Given the description of an element on the screen output the (x, y) to click on. 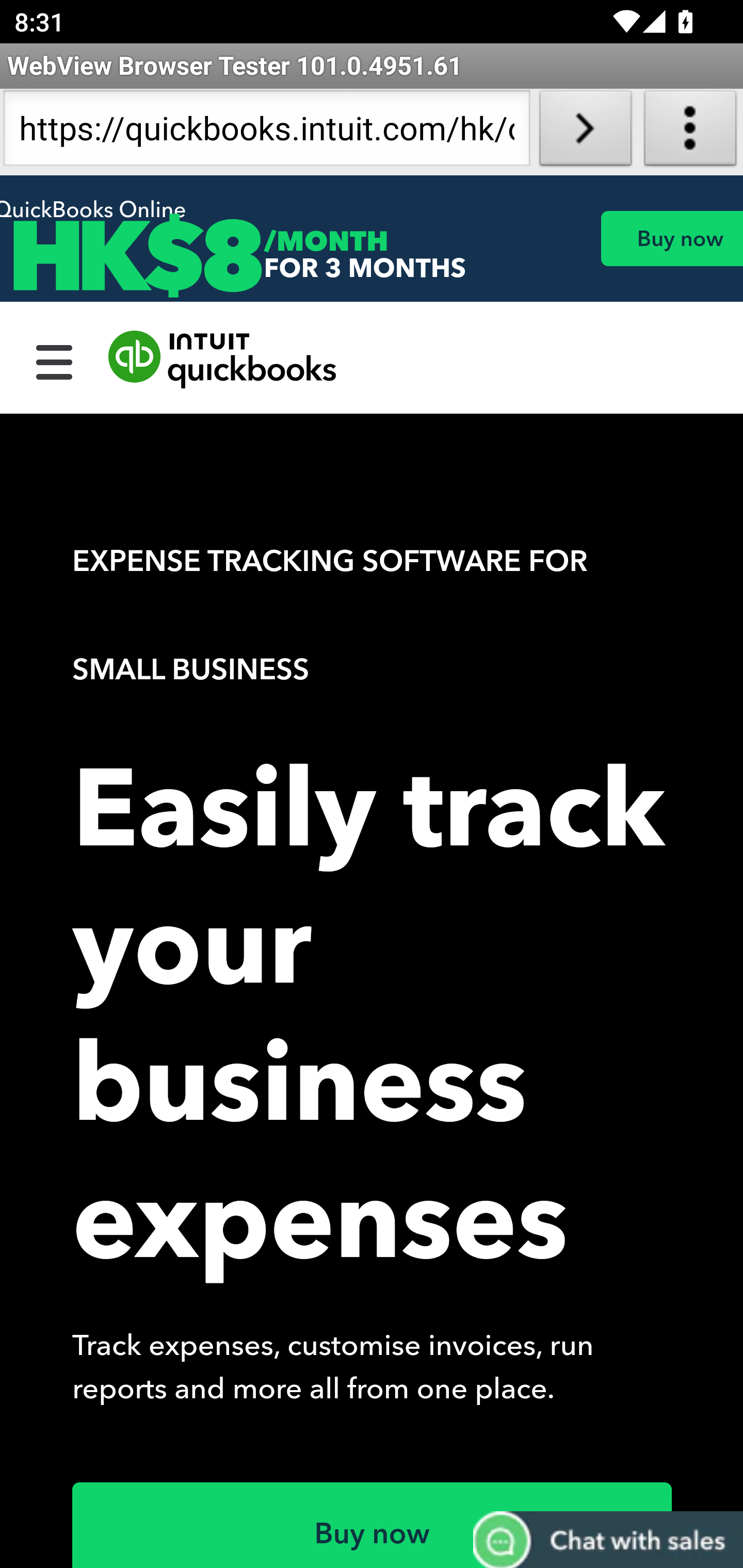
Load URL (585, 132)
About WebView (690, 132)
Buy now (671, 238)
quickbooks-mobile-burger (54, 359)
quickbooks (222, 359)
Buy now (372, 1524)
